Given the description of an element on the screen output the (x, y) to click on. 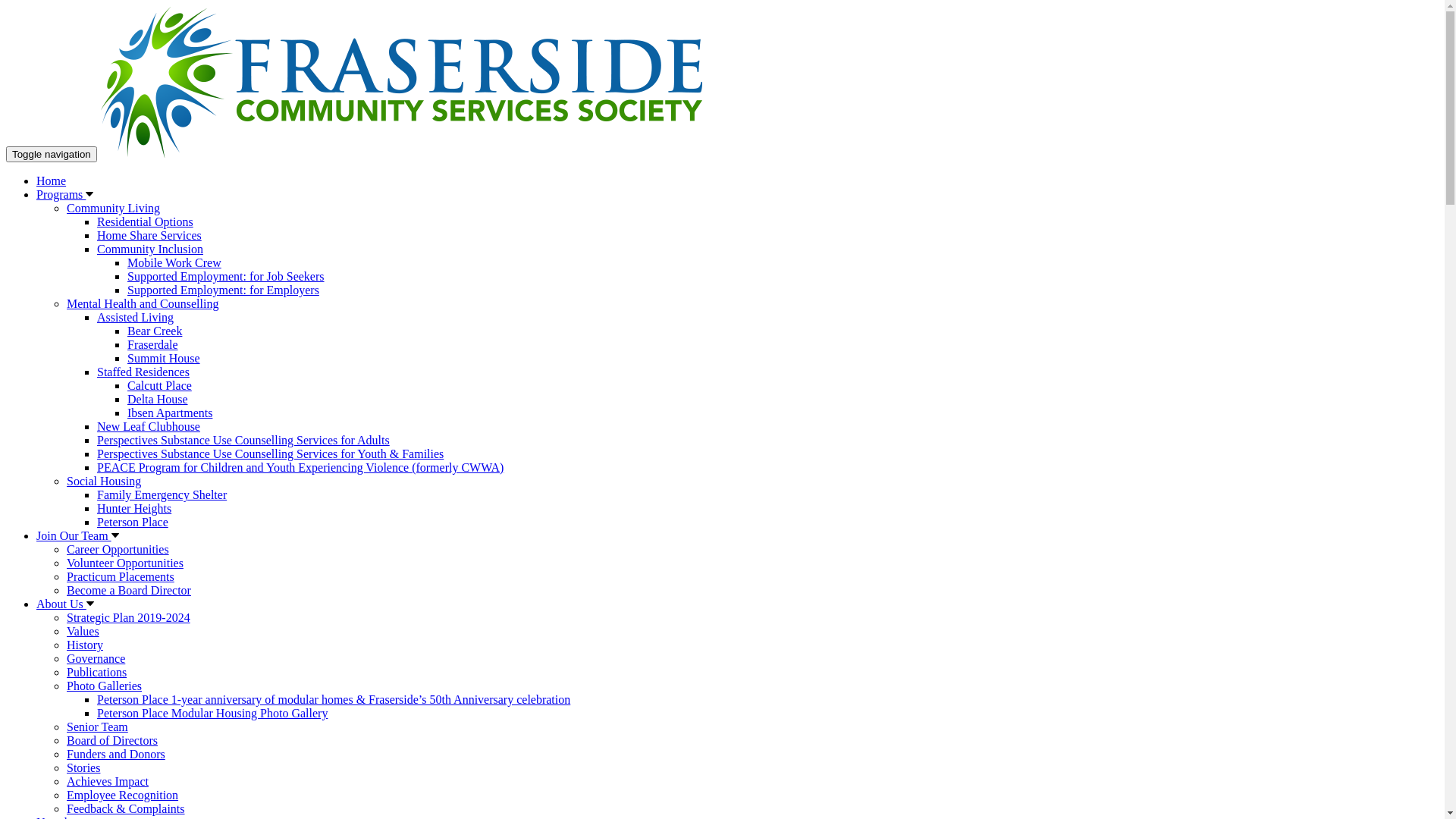
Hunter Heights Element type: text (134, 508)
Strategic Plan 2019-2024 Element type: text (128, 617)
Senior Team Element type: text (97, 726)
Staffed Residences Element type: text (143, 371)
Community Living Element type: text (113, 207)
Career Opportunities Element type: text (117, 548)
Feedback & Complaints Element type: text (125, 808)
Stories Element type: text (83, 767)
Family Emergency Shelter Element type: text (161, 494)
Delta House Element type: text (157, 398)
Publications Element type: text (96, 671)
Become a Board Director Element type: text (128, 589)
Bear Creek Element type: text (154, 330)
Summit House Element type: text (163, 357)
Assisted Living Element type: text (135, 316)
Governance Element type: text (95, 658)
Perspectives Substance Use Counselling Services for Adults Element type: text (243, 439)
Values Element type: text (82, 630)
Peterson Place Modular Housing Photo Gallery Element type: text (212, 712)
Supported Employment: for Employers Element type: text (223, 289)
Home Share Services Element type: text (149, 235)
Social Housing Element type: text (103, 480)
Photo Galleries Element type: text (103, 685)
New Leaf Clubhouse Element type: text (148, 426)
Funders and Donors Element type: text (115, 753)
Calcutt Place Element type: text (159, 385)
About Us Element type: text (61, 603)
Volunteer Opportunities Element type: text (124, 562)
Peterson Place Element type: text (132, 521)
Mental Health and Counselling Element type: text (142, 303)
Community Inclusion Element type: text (150, 248)
Practicum Placements Element type: text (120, 576)
Mobile Work Crew Element type: text (174, 262)
Toggle navigation Element type: text (51, 154)
Employee Recognition Element type: text (122, 794)
Residential Options Element type: text (145, 221)
Programs Element type: text (60, 194)
Board of Directors Element type: text (111, 740)
History Element type: text (84, 644)
Home Element type: text (50, 180)
Supported Employment: for Job Seekers Element type: text (225, 275)
Achieves Impact Element type: text (107, 781)
Ibsen Apartments Element type: text (169, 412)
Fraserdale Element type: text (152, 344)
Join Our Team Element type: text (73, 535)
